Given the description of an element on the screen output the (x, y) to click on. 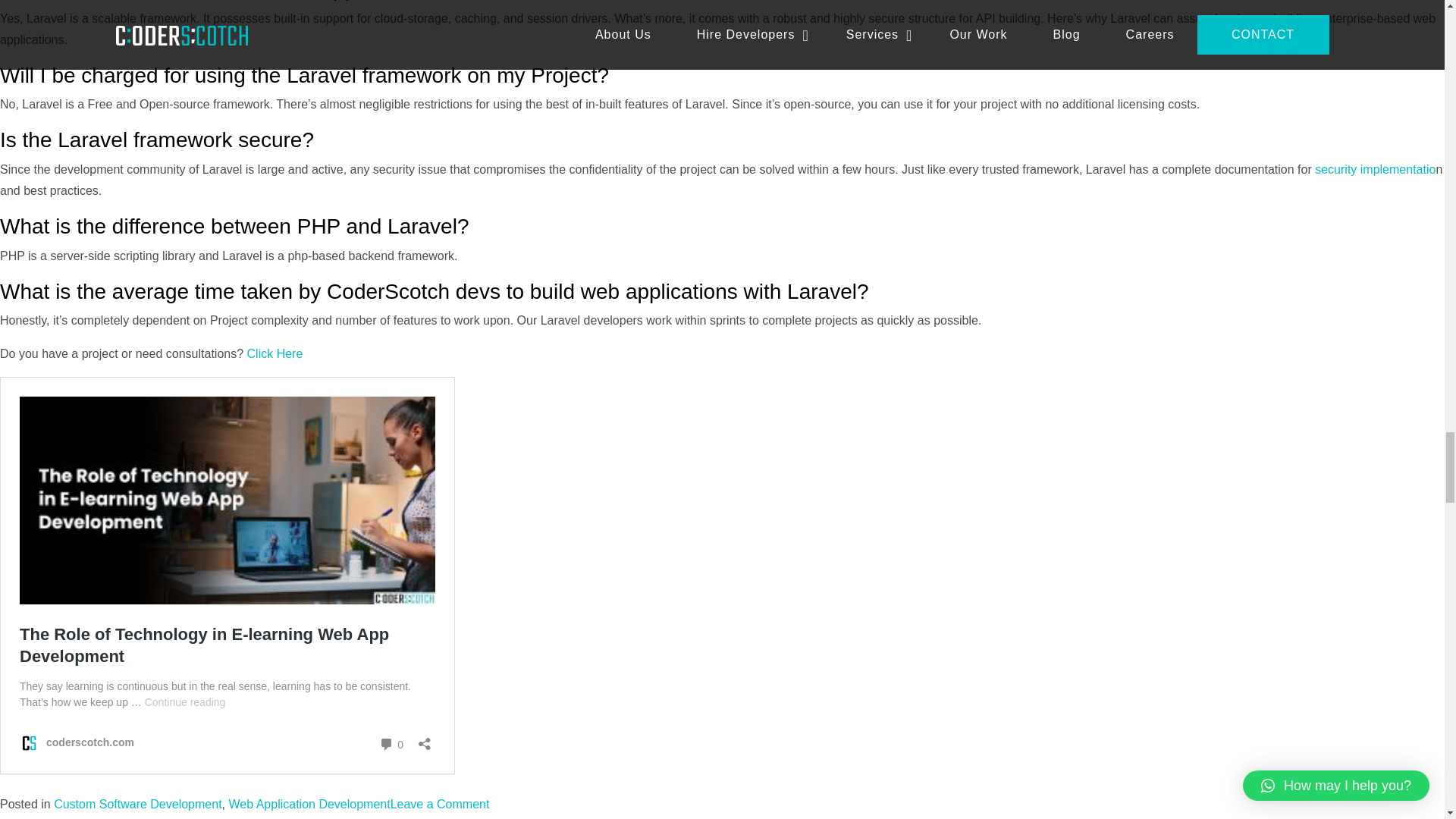
Custom Software Development (137, 803)
Click Here (274, 353)
security implementatio (1374, 169)
Web Application Development (309, 803)
